Given the description of an element on the screen output the (x, y) to click on. 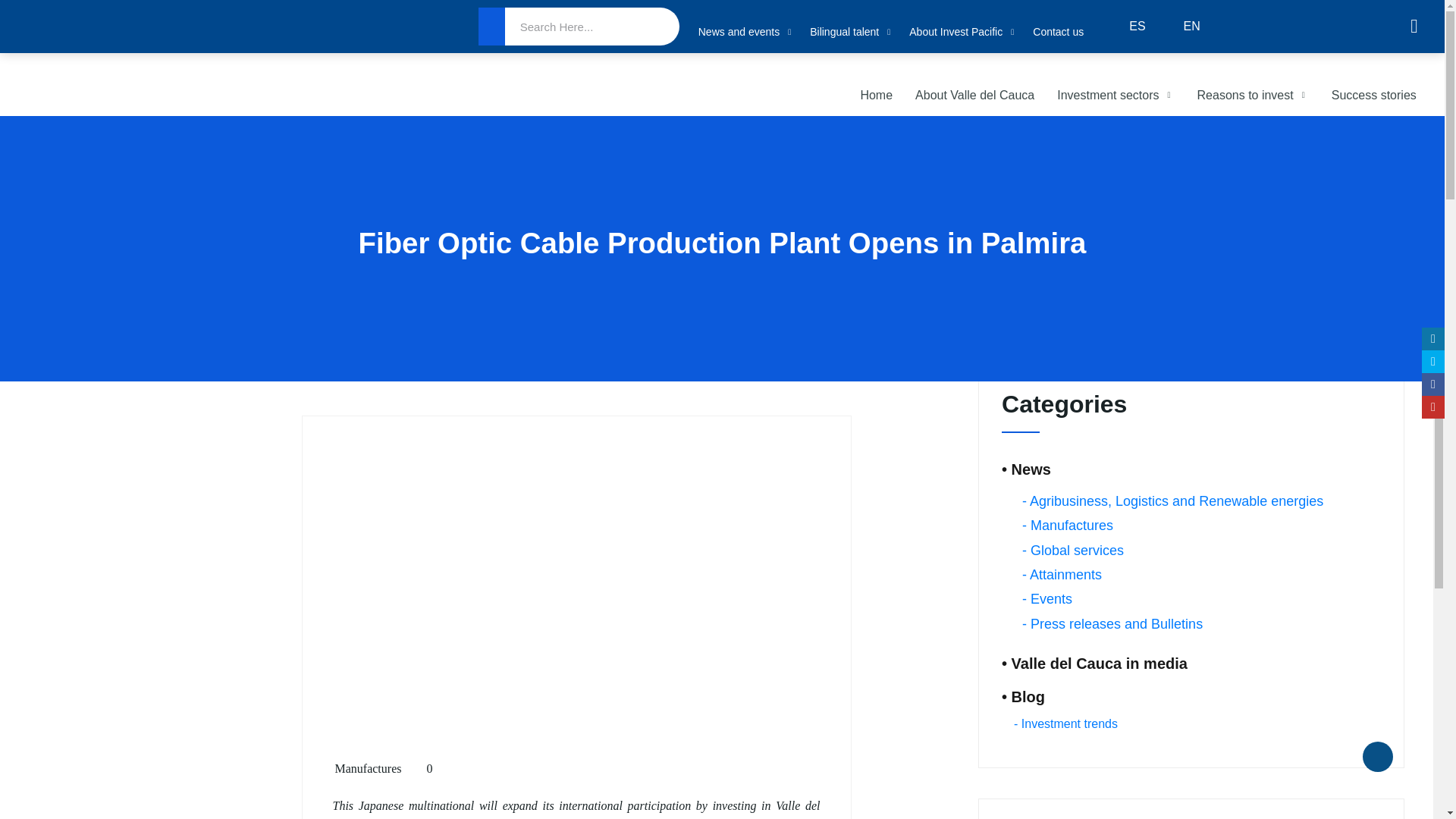
About Invest Pacific (963, 32)
Contact us (1057, 32)
Bilingual talent (851, 32)
Investment sectors (1115, 95)
EN (1179, 26)
ES (1125, 26)
About Valle del Cauca (974, 95)
Home (876, 95)
News and events (746, 32)
